Given the description of an element on the screen output the (x, y) to click on. 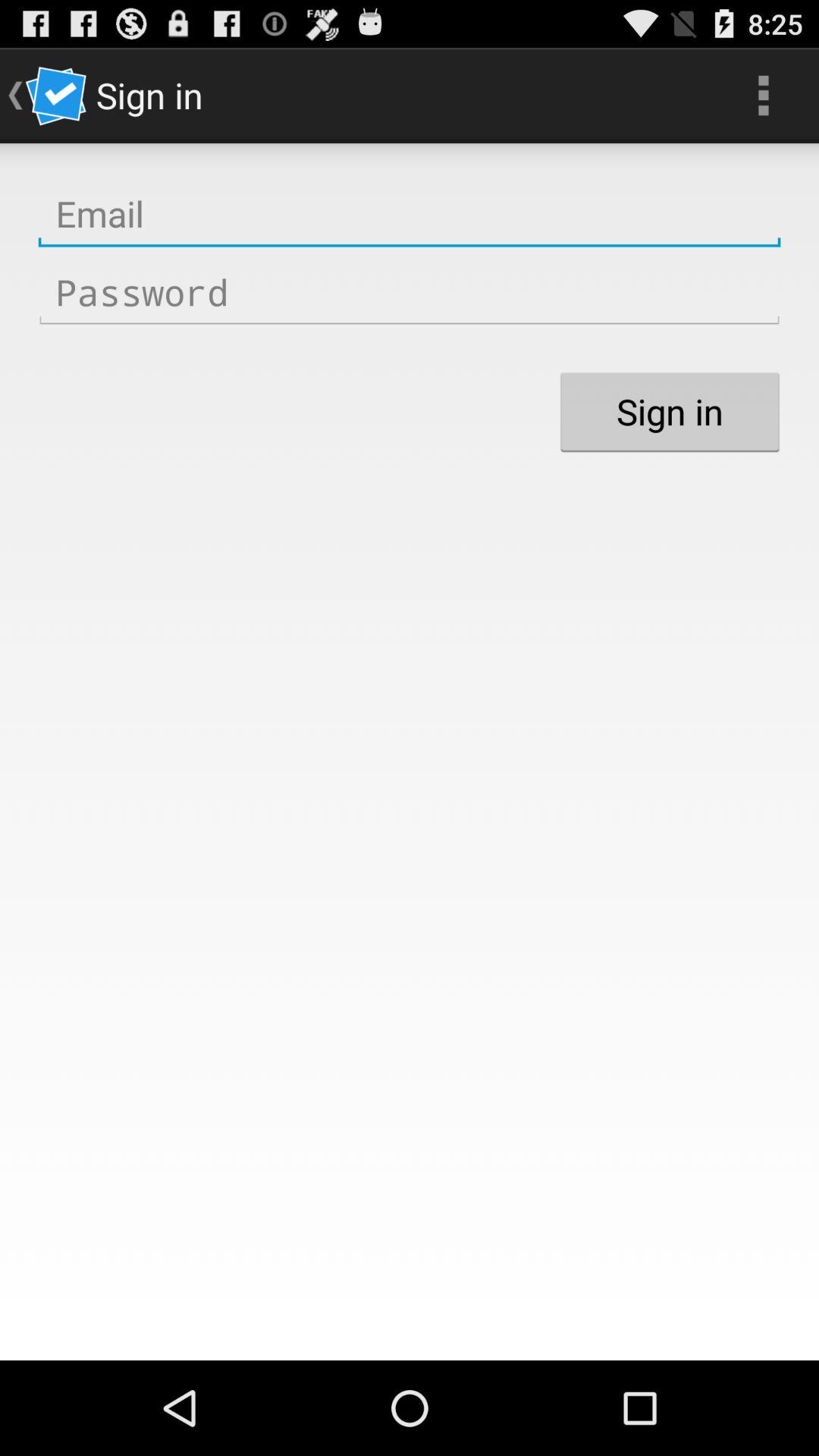
enter you password (409, 292)
